Given the description of an element on the screen output the (x, y) to click on. 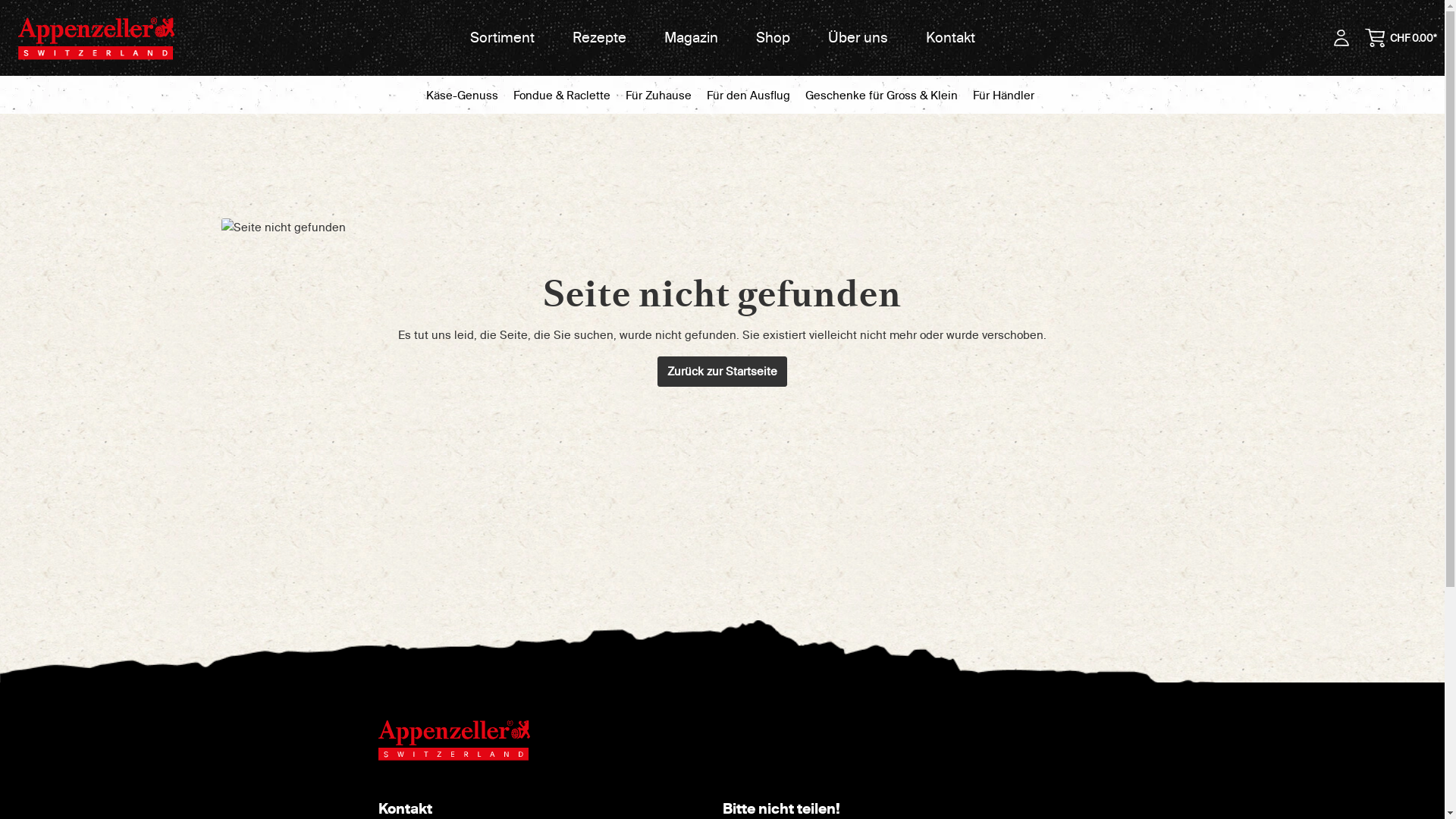
Sortiment Element type: text (501, 37)
Kontakt Element type: text (950, 37)
Shop Element type: text (773, 37)
CHF 0.00* Element type: text (1401, 37)
Mein Konto Element type: hover (1341, 37)
Magazin Element type: text (690, 37)
Rezepte Element type: text (599, 37)
Zur Startseite wechseln Element type: hover (96, 37)
Fondue & Raclette Element type: text (560, 95)
